Given the description of an element on the screen output the (x, y) to click on. 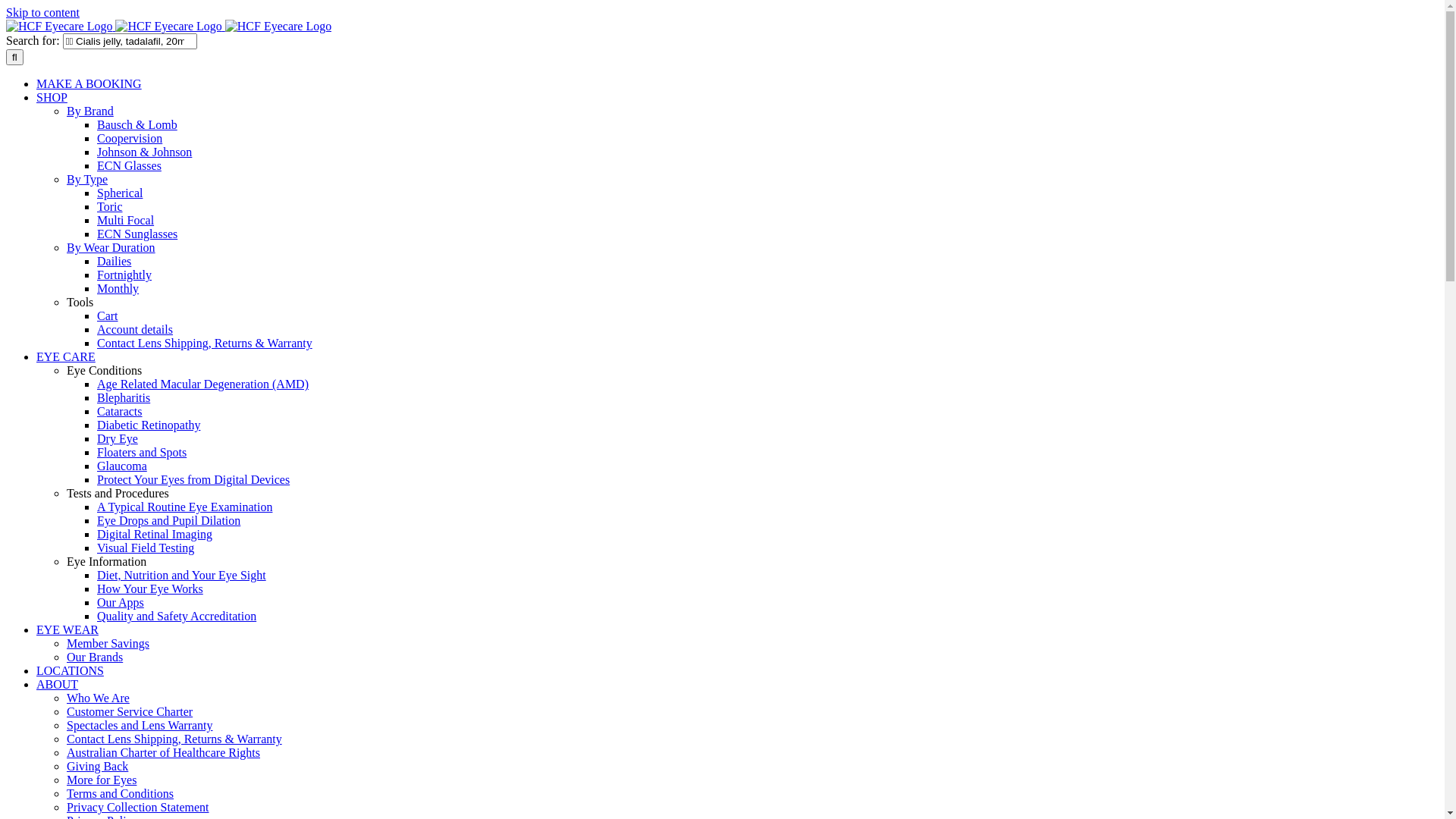
Monthly Element type: text (117, 288)
Spectacles and Lens Warranty Element type: text (139, 724)
Dailies Element type: text (114, 260)
Blepharitis Element type: text (123, 397)
Floaters and Spots Element type: text (141, 451)
By Type Element type: text (86, 178)
ECN Glasses Element type: text (129, 165)
Customer Service Charter Element type: text (129, 711)
MAKE A BOOKING Element type: text (88, 83)
Contact Lens Shipping, Returns & Warranty Element type: text (174, 738)
Account details Element type: text (134, 329)
Who We Are Element type: text (97, 697)
Fortnightly Element type: text (124, 274)
Terms and Conditions Element type: text (119, 793)
Cataracts Element type: text (119, 410)
Diet, Nutrition and Your Eye Sight Element type: text (181, 574)
Skip to content Element type: text (42, 12)
Dry Eye Element type: text (117, 438)
More for Eyes Element type: text (101, 779)
Toric Element type: text (109, 206)
Our Brands Element type: text (94, 656)
Privacy Collection Statement Element type: text (137, 806)
Quality and Safety Accreditation Element type: text (176, 615)
Australian Charter of Healthcare Rights Element type: text (163, 752)
Our Apps Element type: text (120, 602)
Age Related Macular Degeneration (AMD) Element type: text (202, 383)
Visual Field Testing Element type: text (145, 547)
How Your Eye Works Element type: text (150, 588)
LOCATIONS Element type: text (69, 670)
Coopervision Element type: text (129, 137)
Diabetic Retinopathy Element type: text (148, 424)
ECN Sunglasses Element type: text (137, 233)
Multi Focal Element type: text (125, 219)
Eye Drops and Pupil Dilation Element type: text (168, 520)
Cart Element type: text (107, 315)
EYE WEAR Element type: text (67, 629)
A Typical Routine Eye Examination Element type: text (184, 506)
Digital Retinal Imaging Element type: text (154, 533)
Glaucoma Element type: text (122, 465)
Spherical Element type: text (119, 192)
Johnson & Johnson Element type: text (144, 151)
ABOUT Element type: text (57, 683)
EYE CARE Element type: text (65, 356)
Member Savings Element type: text (107, 643)
Contact Lens Shipping, Returns & Warranty Element type: text (204, 342)
By Brand Element type: text (89, 110)
SHOP Element type: text (51, 97)
By Wear Duration Element type: text (110, 247)
Bausch & Lomb Element type: text (137, 124)
Giving Back Element type: text (97, 765)
Protect Your Eyes from Digital Devices Element type: text (193, 479)
